Given the description of an element on the screen output the (x, y) to click on. 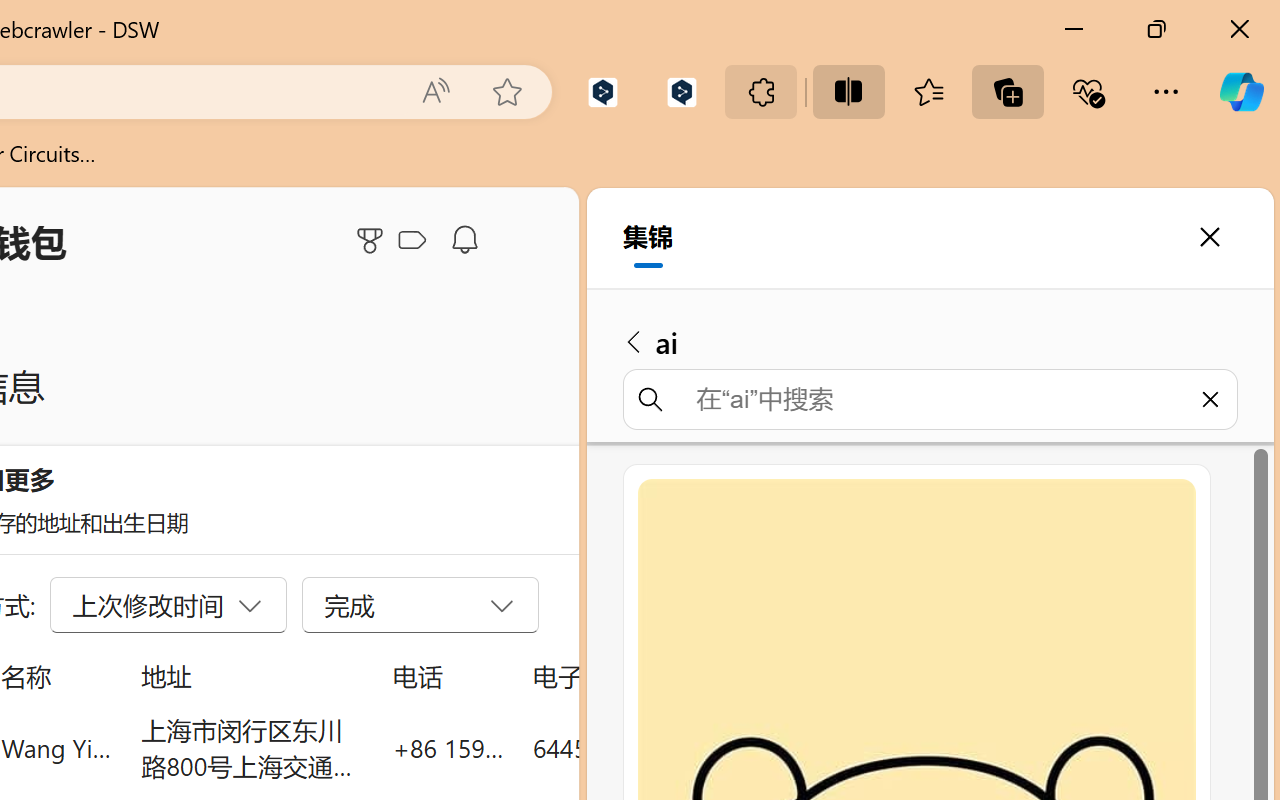
Class: ___1lmltc5 f1agt3bx f12qytpq (411, 241)
Copilot (Ctrl+Shift+.) (1241, 91)
